Given the description of an element on the screen output the (x, y) to click on. 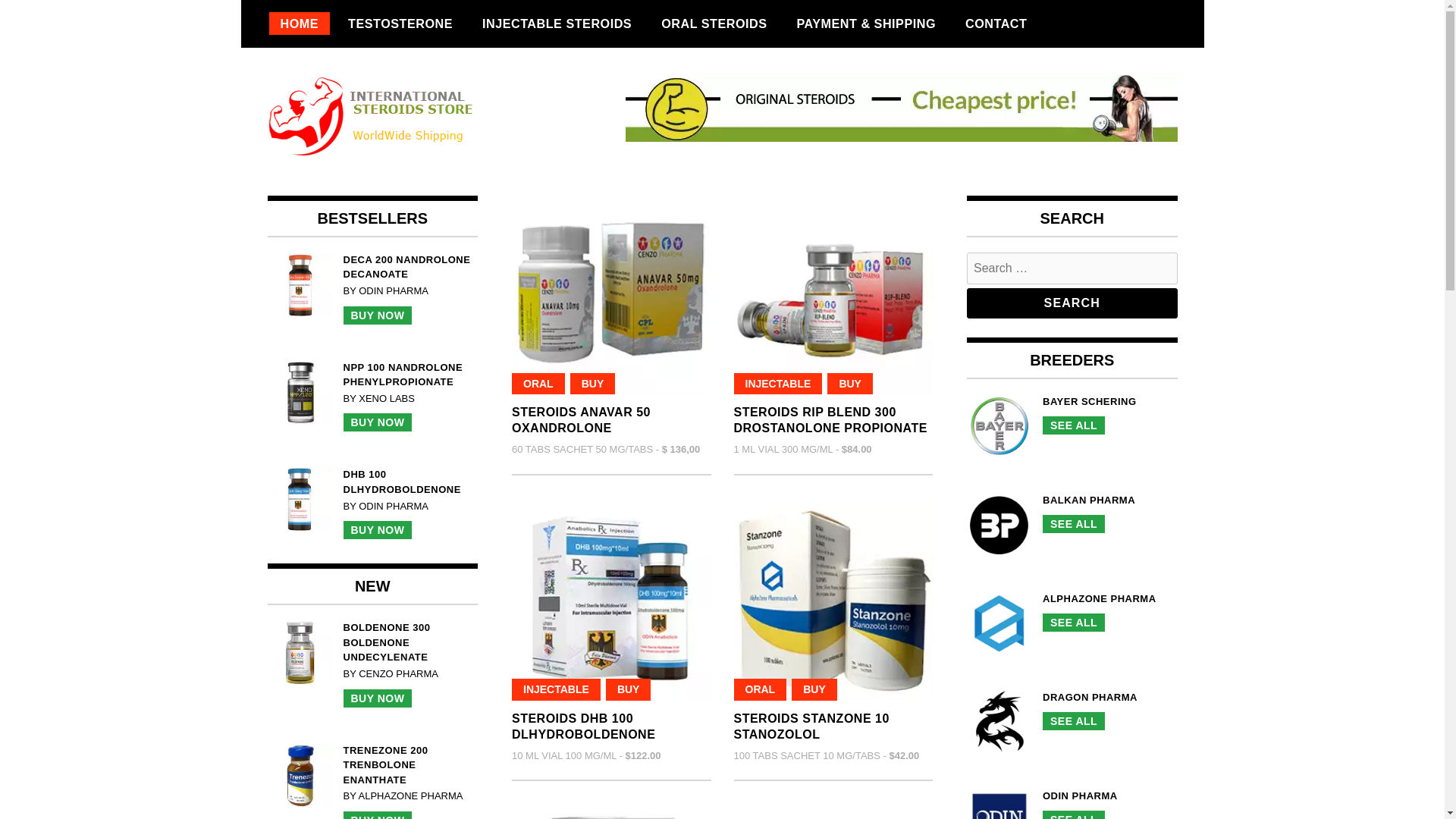
Buy Steroids Anavar 50 (581, 419)
HOME (298, 23)
INJECTABLE STEROIDS (556, 23)
CONTACT (995, 23)
Buy Steroids Anavar 50 (611, 294)
Search (583, 726)
Buy Steroids Dhb 100 (1071, 303)
BUY (611, 601)
TESTOSTERONE (811, 726)
BUY (627, 689)
INJECTABLE (400, 23)
BUY (814, 689)
